Given the description of an element on the screen output the (x, y) to click on. 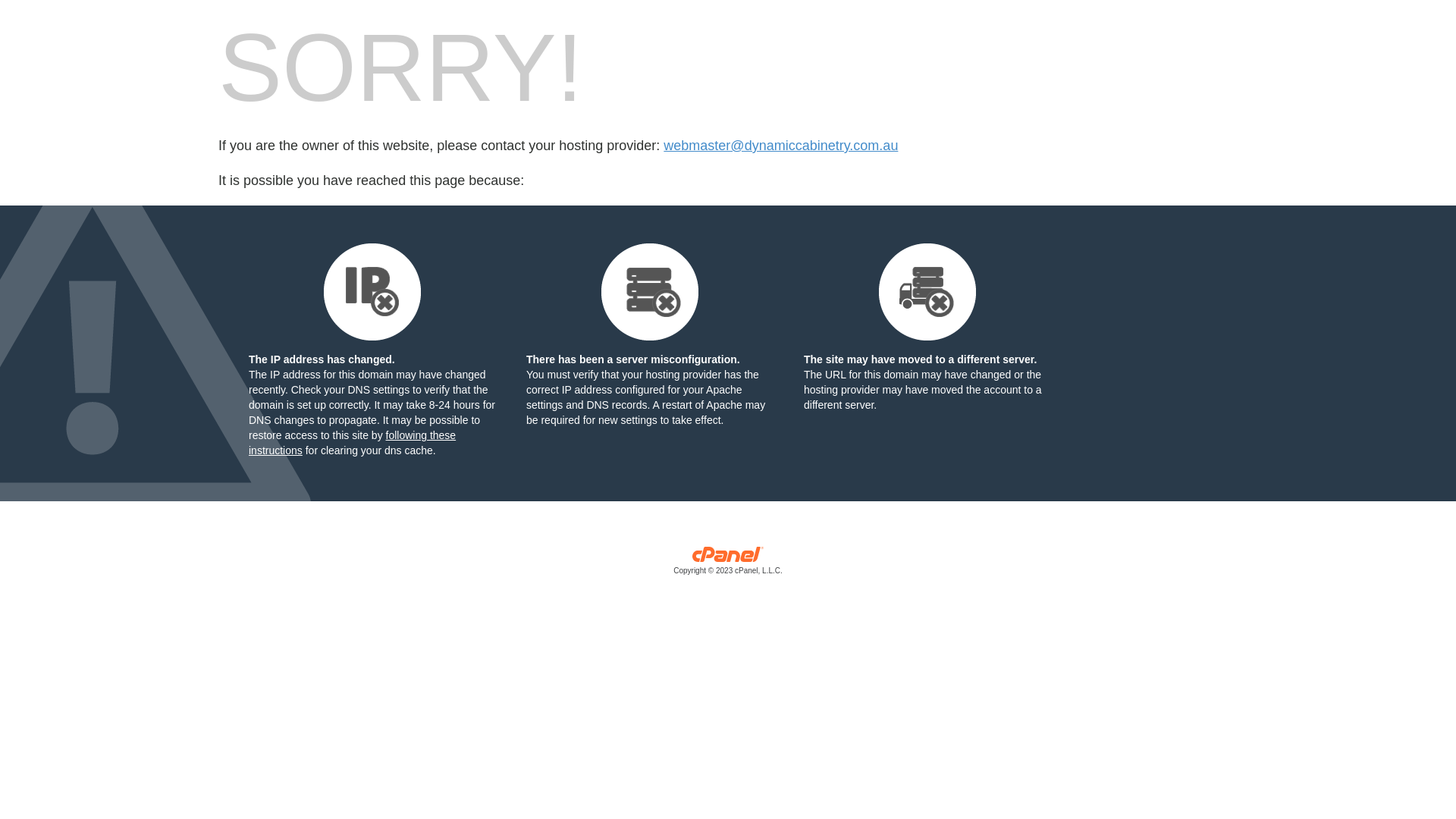
webmaster@dynamiccabinetry.com.au Element type: text (780, 145)
following these instructions Element type: text (351, 442)
